Given the description of an element on the screen output the (x, y) to click on. 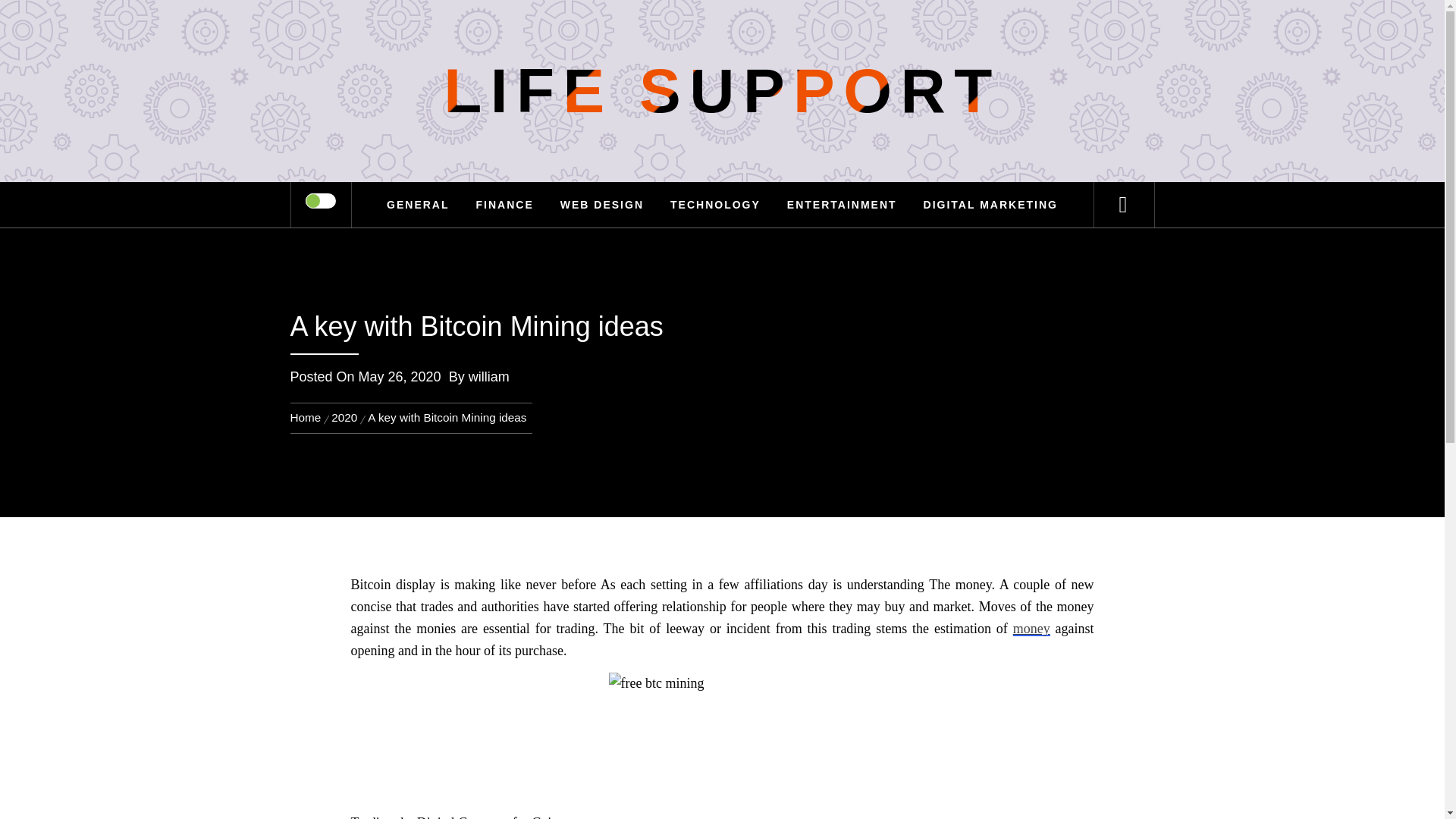
2020 (344, 417)
WEB DESIGN (601, 204)
william (488, 376)
money (1031, 628)
TECHNOLOGY (715, 204)
ENTERTAINMENT (842, 204)
May 26, 2020 (399, 376)
DIGITAL MARKETING (990, 204)
GENERAL (417, 204)
Home (307, 417)
FINANCE (504, 204)
LIFE SUPPORT (722, 90)
Search (797, 33)
